Given the description of an element on the screen output the (x, y) to click on. 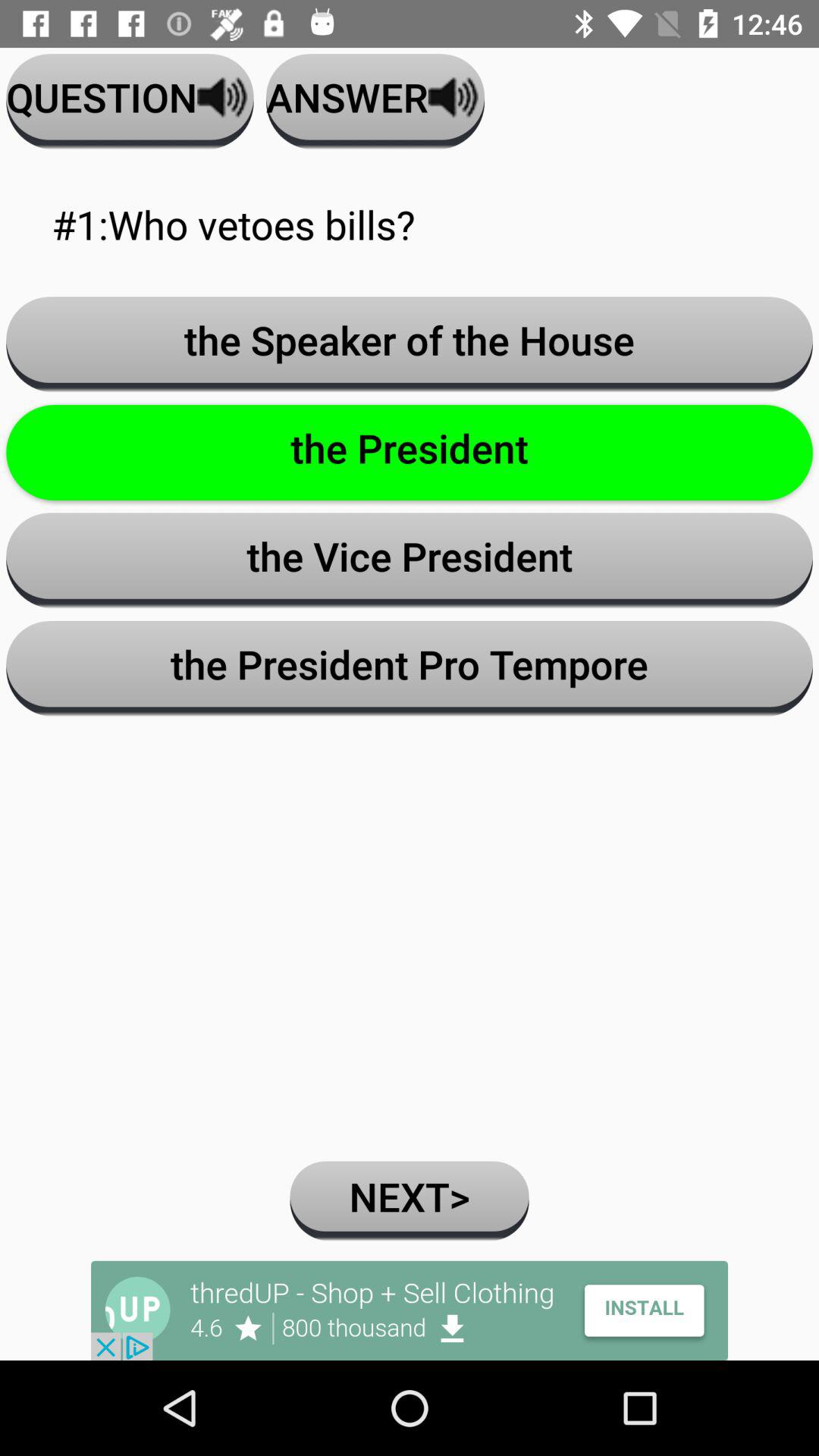
advertisement (409, 1310)
